Given the description of an element on the screen output the (x, y) to click on. 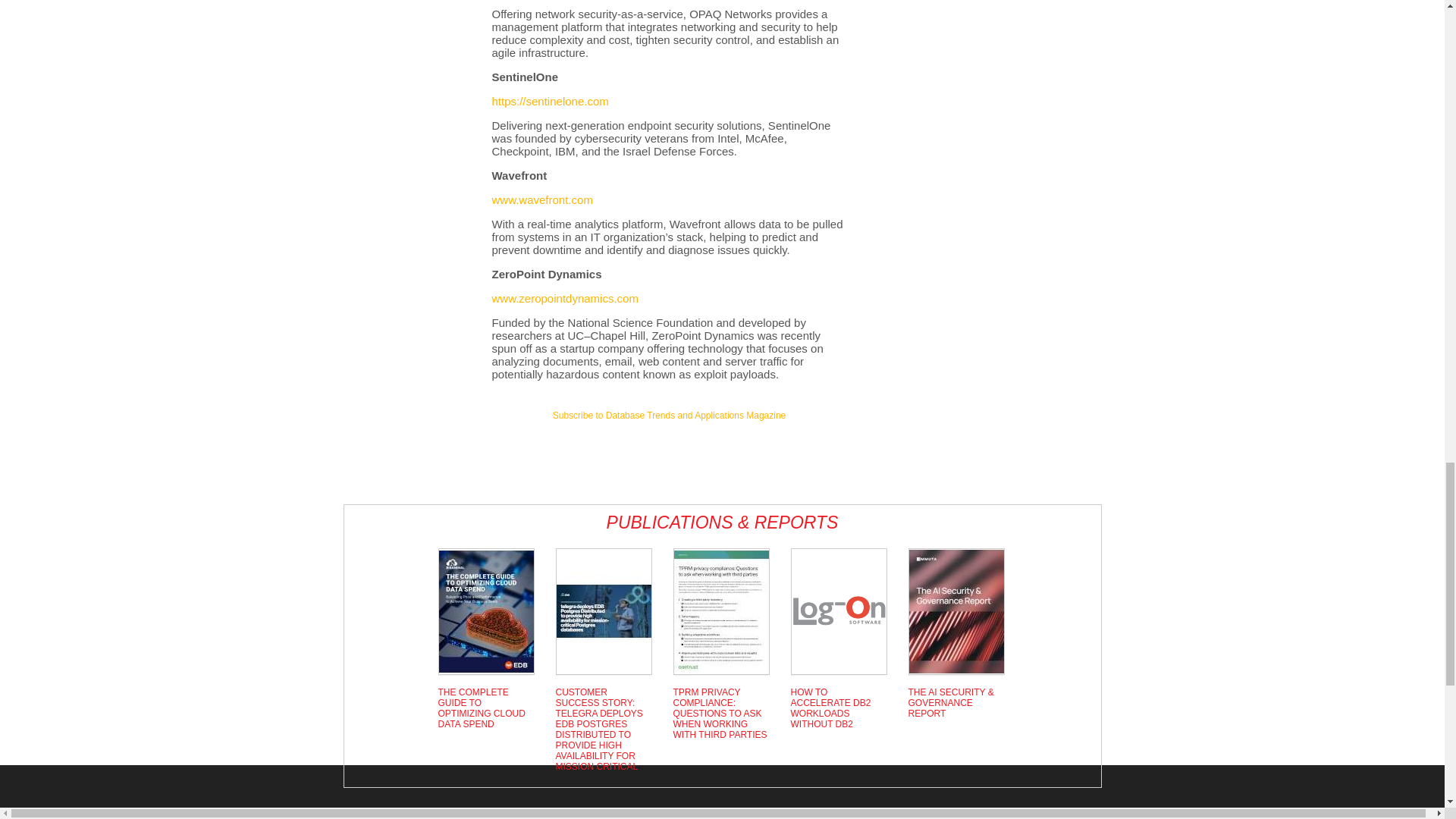
3rd party ad content (403, 46)
3rd party ad content (668, 451)
